Given the description of an element on the screen output the (x, y) to click on. 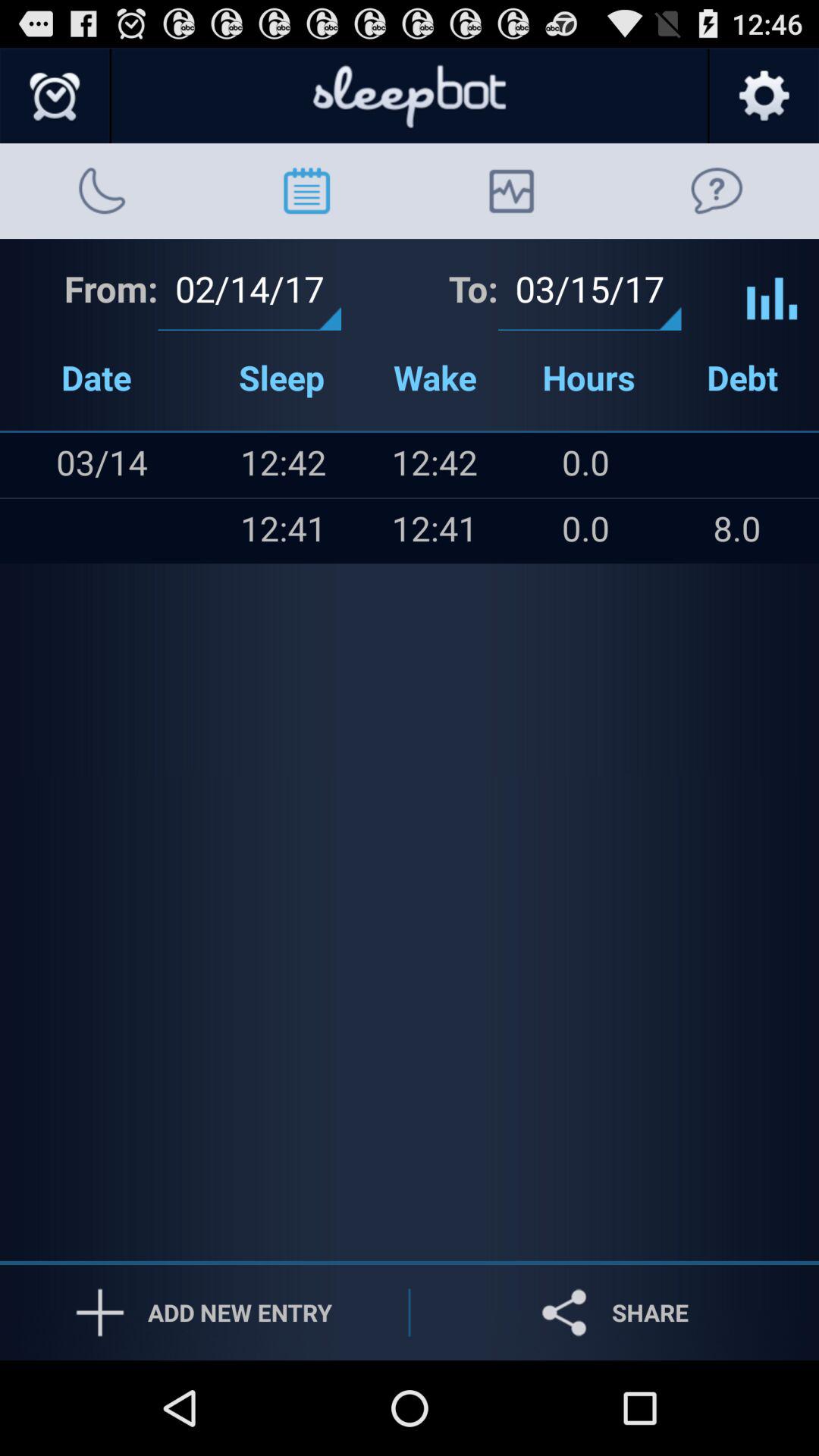
open icon next to the 0.0 icon (736, 465)
